Given the description of an element on the screen output the (x, y) to click on. 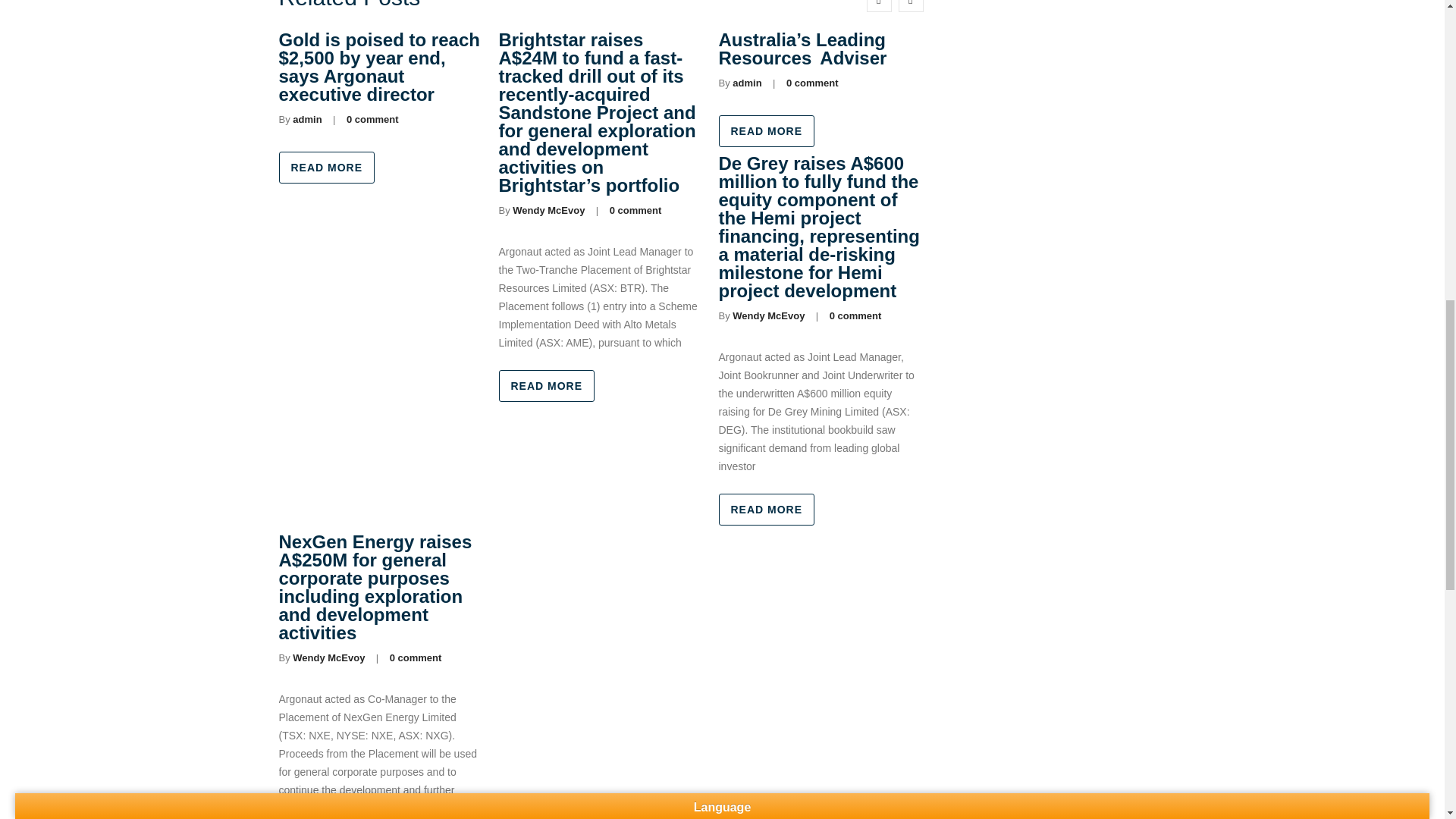
Posts by Wendy McEvoy (548, 210)
Posts by admin (746, 82)
Posts by admin (306, 119)
